Given the description of an element on the screen output the (x, y) to click on. 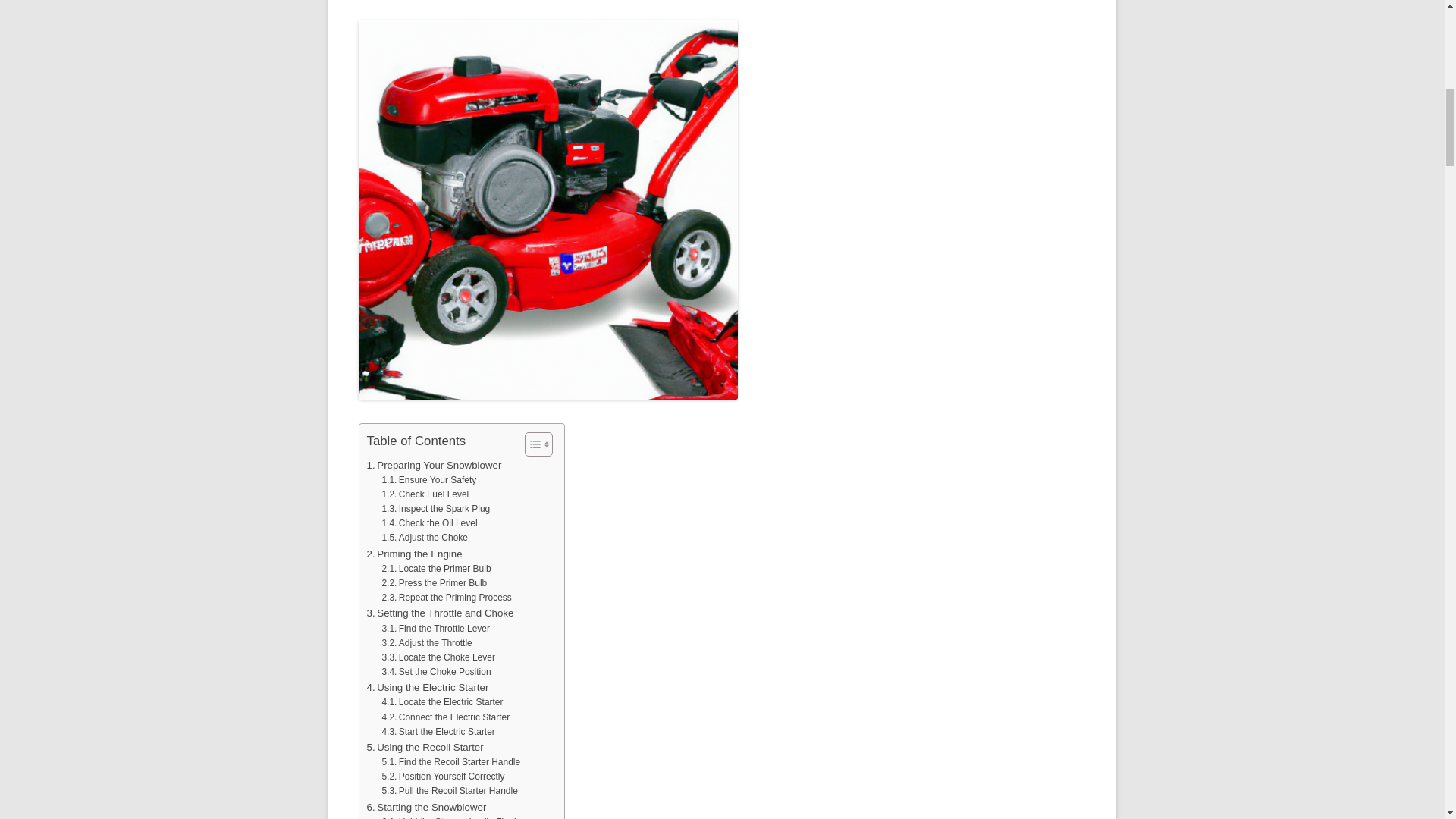
Using the Electric Starter (427, 687)
Position Yourself Correctly (442, 776)
Adjust the Choke (424, 537)
Pull the Recoil Starter Handle (448, 790)
Setting the Throttle and Choke (439, 612)
Repeat the Priming Process (446, 597)
Check the Oil Level (429, 523)
Setting the Throttle and Choke (439, 612)
Ensure Your Safety (428, 480)
Locate the Choke Lever (438, 657)
